Given the description of an element on the screen output the (x, y) to click on. 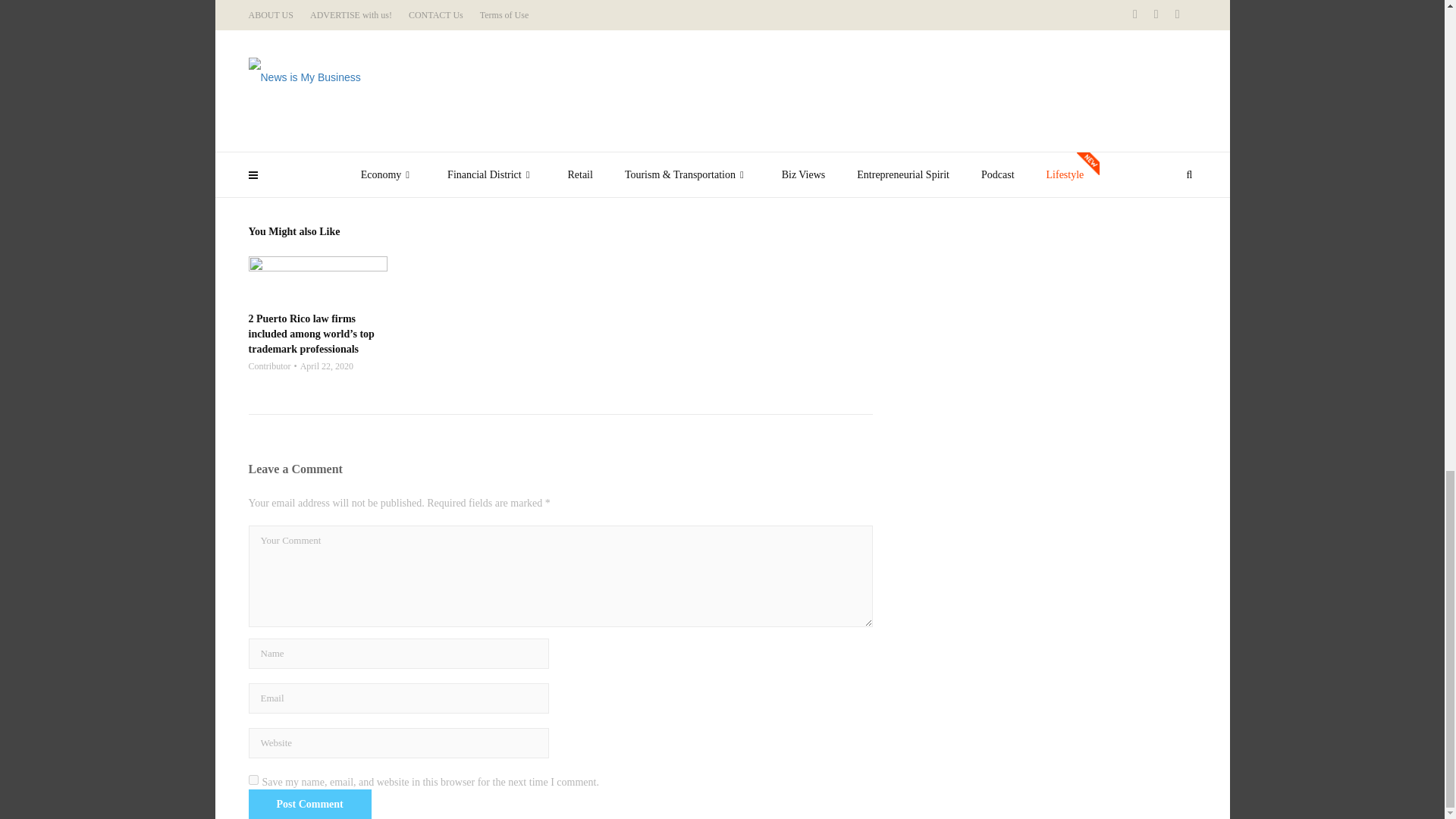
yes (253, 778)
Post Comment (309, 803)
